Given the description of an element on the screen output the (x, y) to click on. 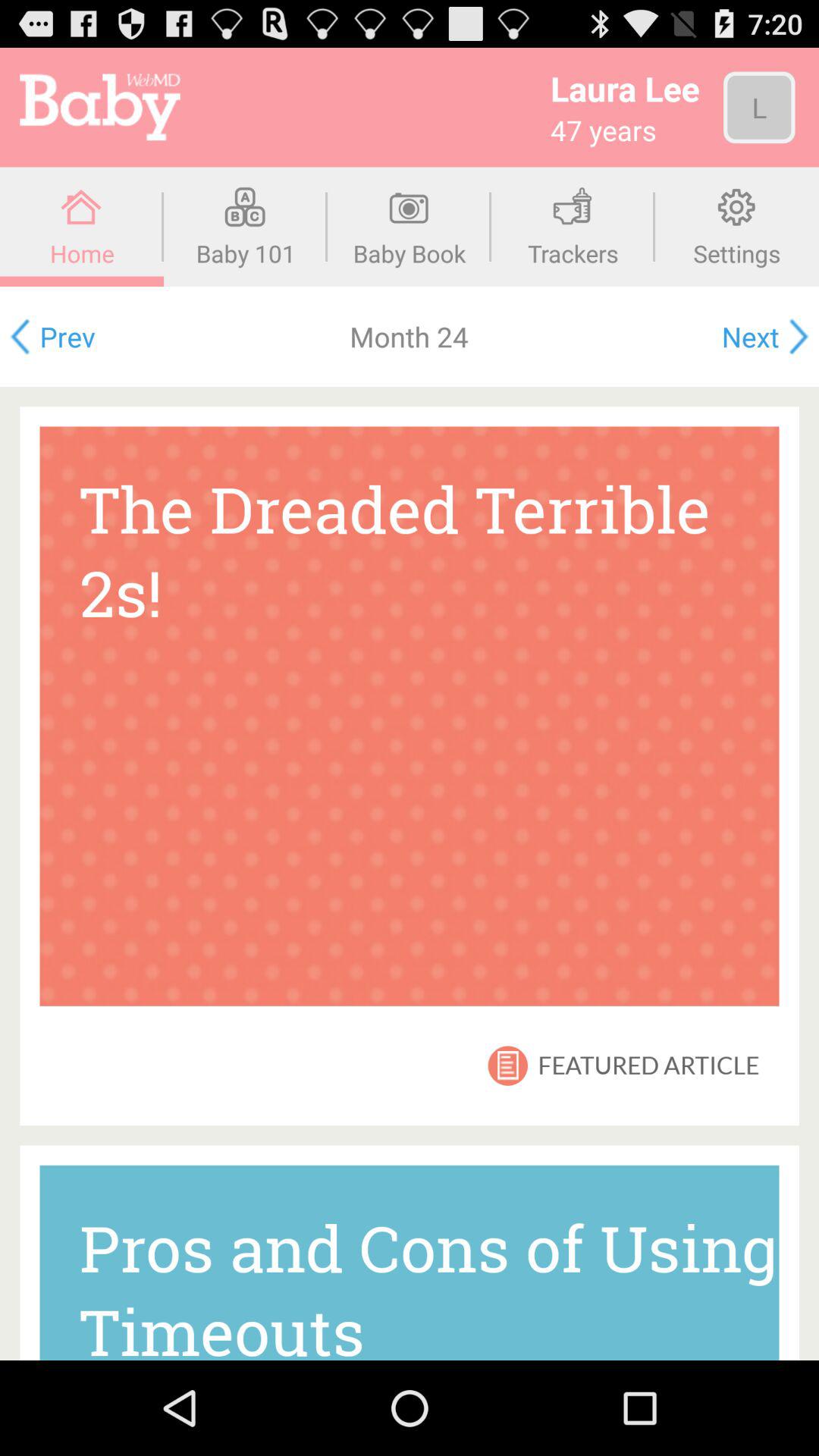
open item above pros and cons icon (508, 1065)
